Given the description of an element on the screen output the (x, y) to click on. 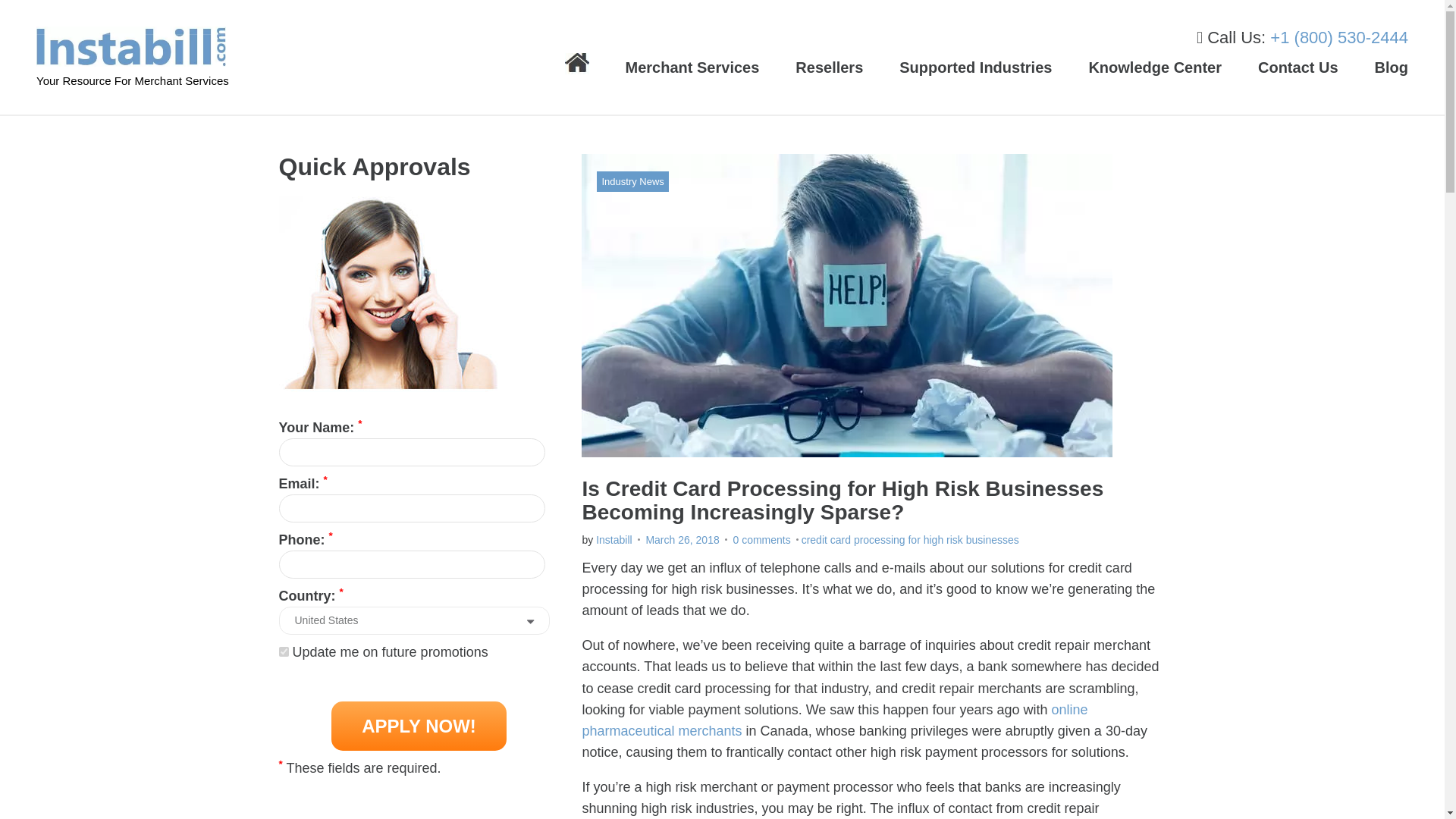
Supported Industries (975, 67)
Home (576, 63)
Merchant Services (693, 67)
Merchant Services (693, 67)
Apply Now! (418, 726)
Resellers (828, 67)
Instabill Partner Program (828, 67)
Supported Industries (975, 67)
